Given the description of an element on the screen output the (x, y) to click on. 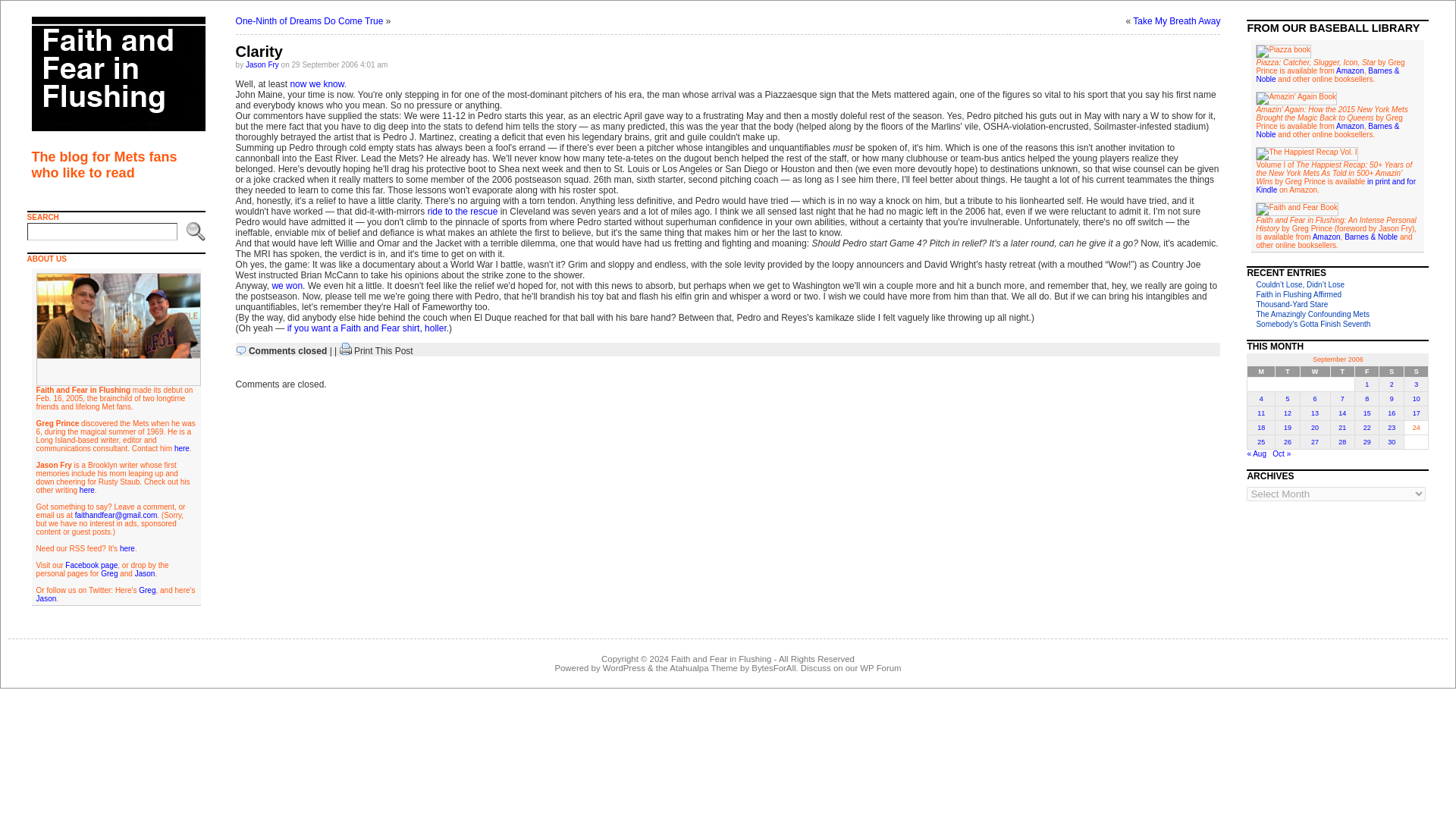
if you want a Faith and Fear shirt, holler (366, 327)
here (181, 448)
Jason (145, 573)
Jason Fry (262, 64)
ride to the rescue (462, 211)
Customizable WordPress themes (703, 667)
1 (1366, 384)
now we know (316, 83)
Print This Post (345, 350)
Print This Post (383, 350)
